Given the description of an element on the screen output the (x, y) to click on. 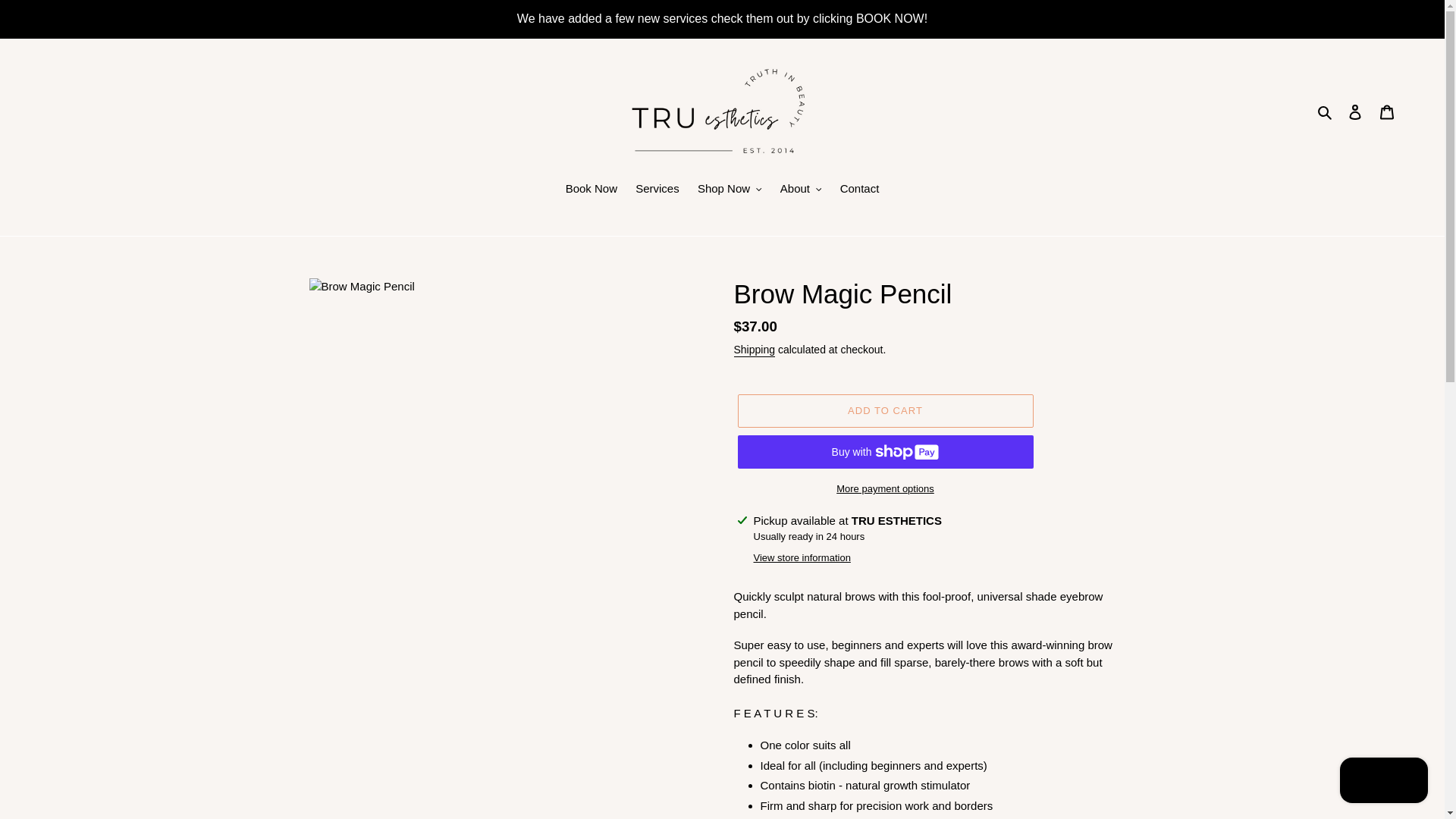
ADD TO CART (884, 410)
Shipping (754, 350)
Shopify online store chat (1383, 781)
Cart (1387, 111)
About (801, 189)
Search (1326, 111)
Log in (1355, 111)
Book Now (590, 189)
Contact (859, 189)
